Given the description of an element on the screen output the (x, y) to click on. 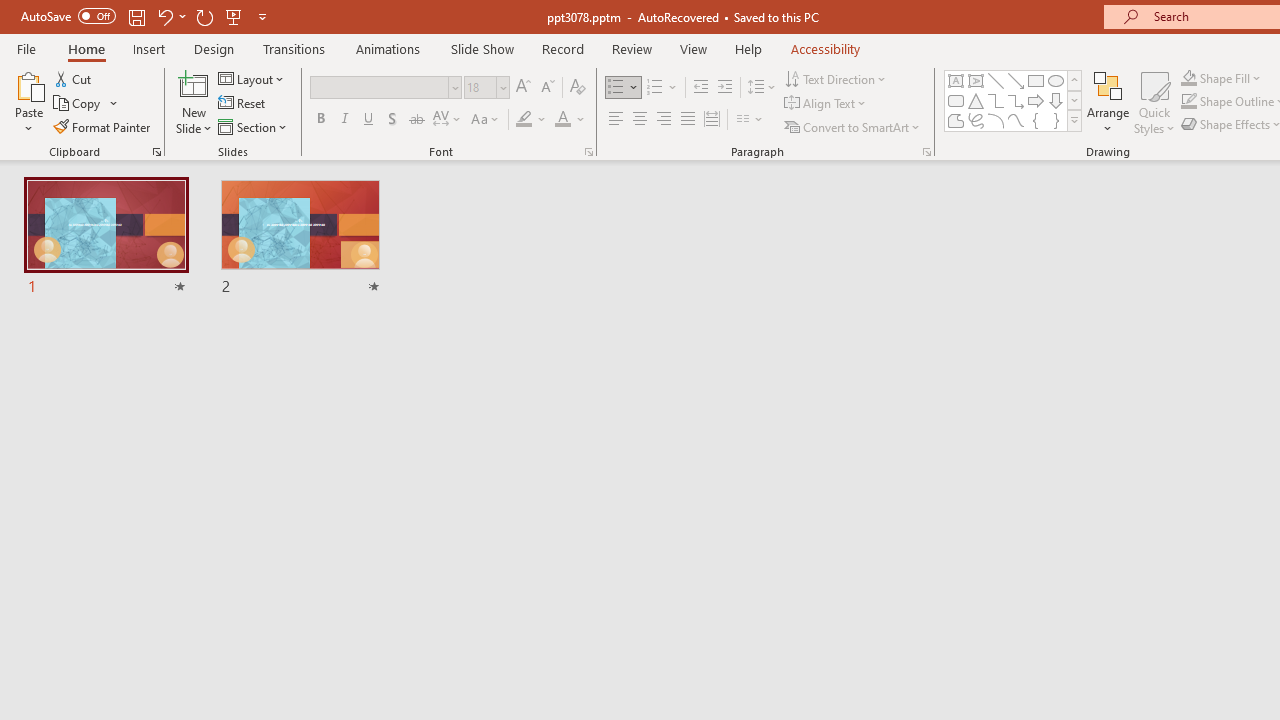
Shape Outline Green, Accent 1 (1188, 101)
